Given the description of an element on the screen output the (x, y) to click on. 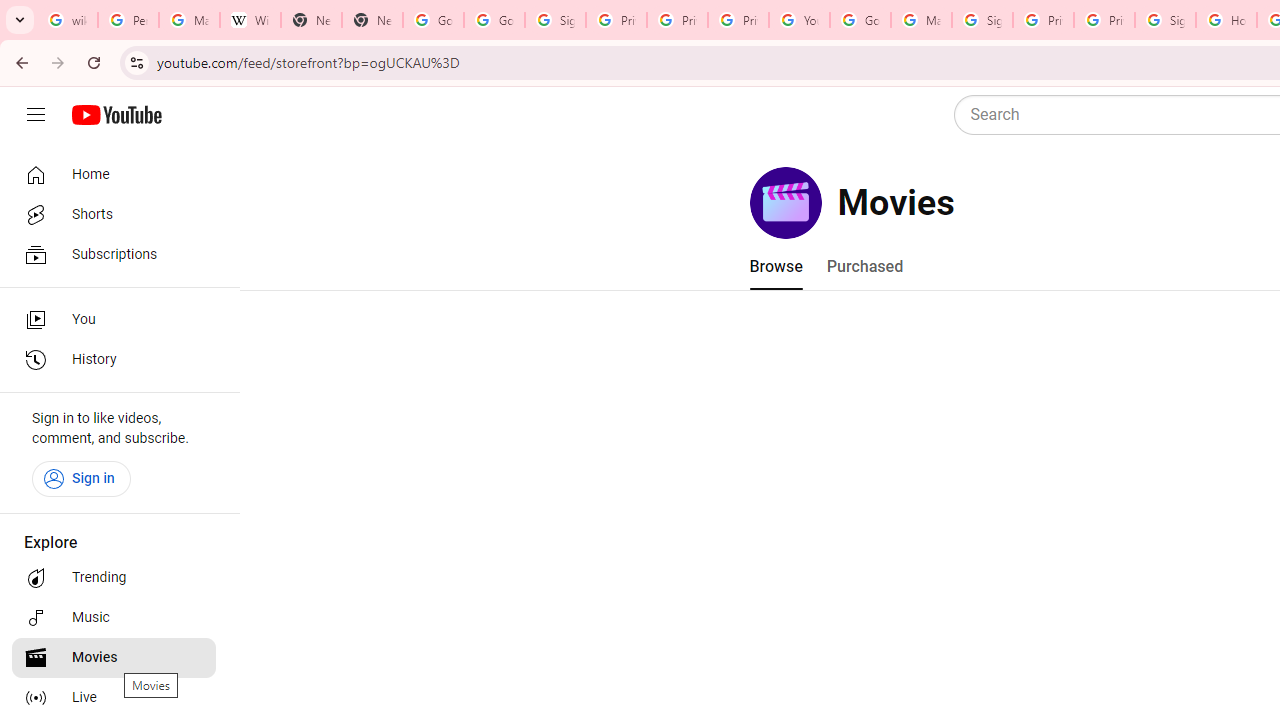
History (113, 359)
Wikipedia:Edit requests - Wikipedia (250, 20)
Manage your Location History - Google Search Help (189, 20)
Subscriptions (113, 254)
New Tab (310, 20)
Sign in - Google Accounts (982, 20)
Sign in - Google Accounts (555, 20)
